Given the description of an element on the screen output the (x, y) to click on. 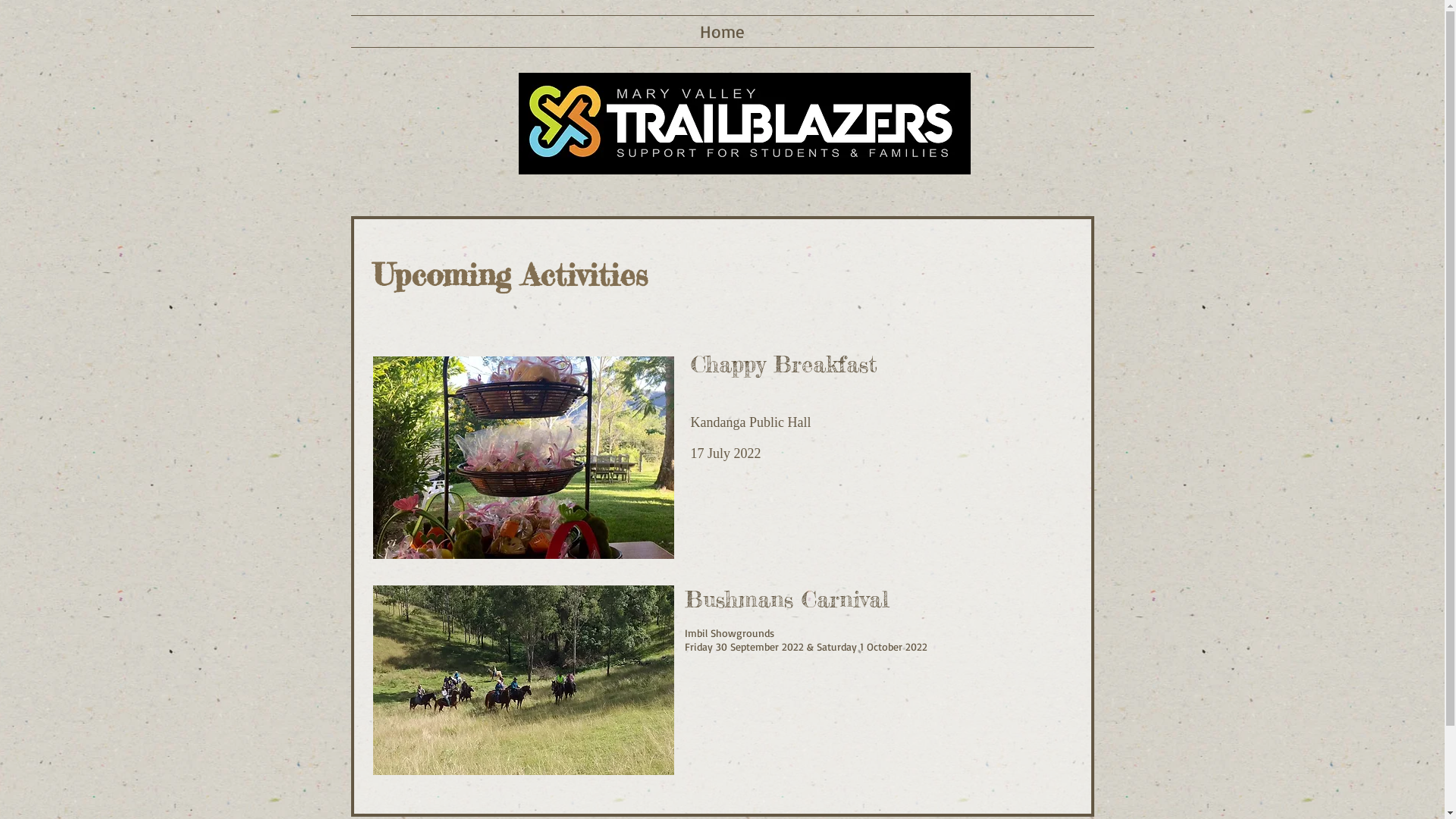
Home Element type: text (721, 31)
